Given the description of an element on the screen output the (x, y) to click on. 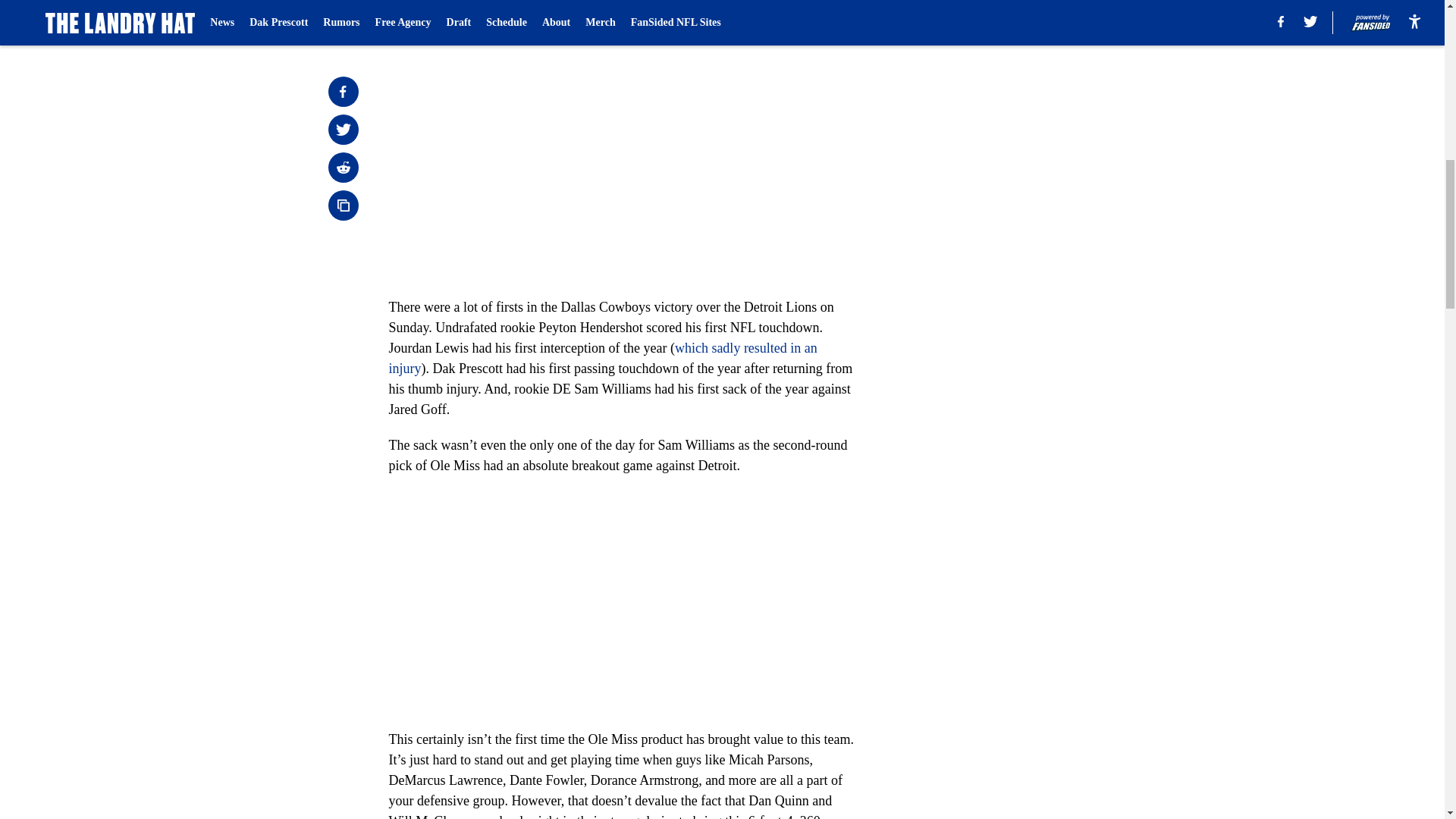
which sadly resulted in an injury (602, 357)
